Given the description of an element on the screen output the (x, y) to click on. 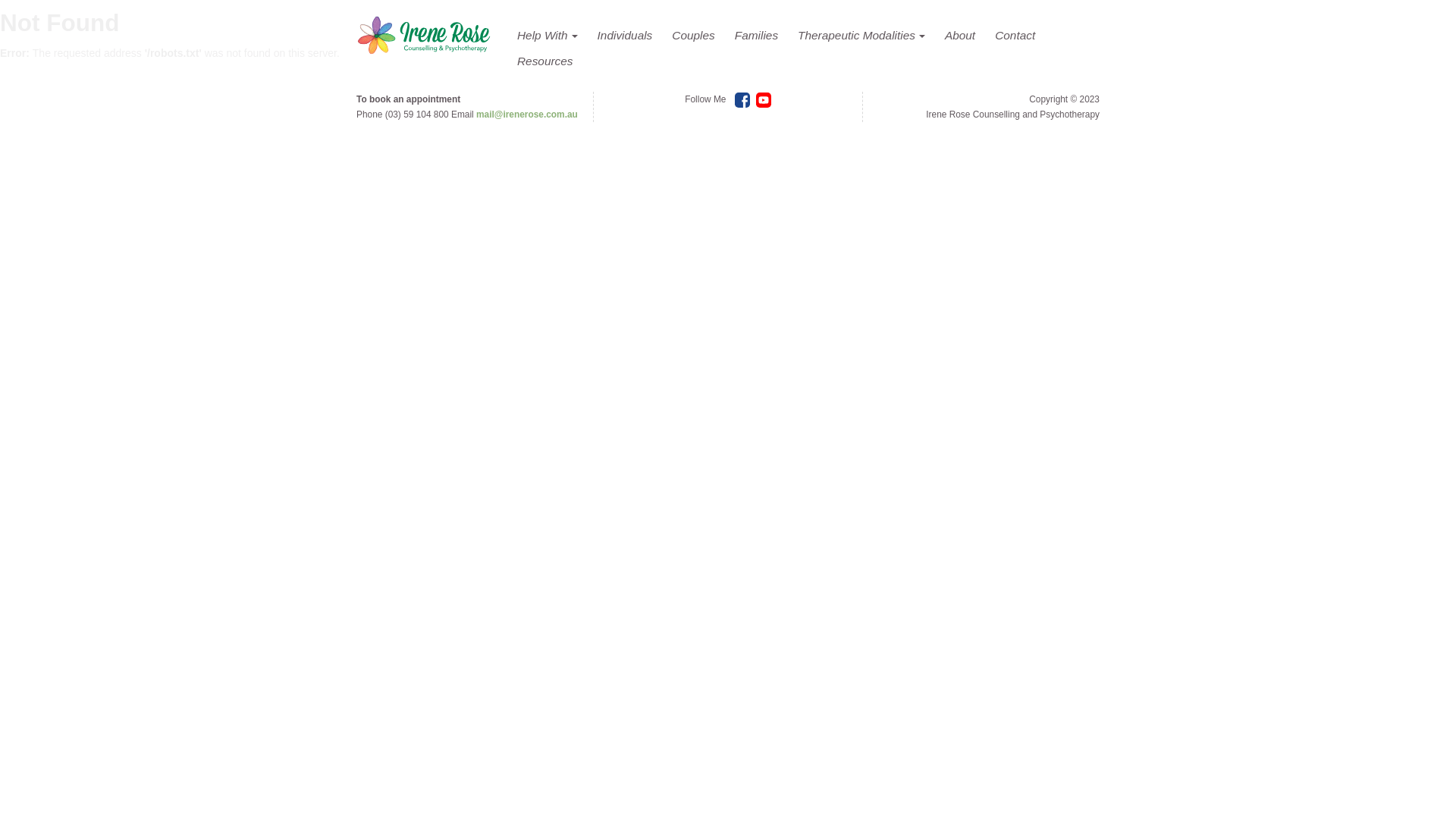
mail@irenerose.com.au Element type: text (526, 114)
Help With Element type: text (547, 35)
Contact Element type: text (1014, 35)
About Element type: text (959, 35)
Families Element type: text (756, 35)
Couples Element type: text (692, 35)
Therapeutic Modalities Element type: text (861, 35)
Individuals Element type: text (625, 35)
Resources Element type: text (545, 61)
